Given the description of an element on the screen output the (x, y) to click on. 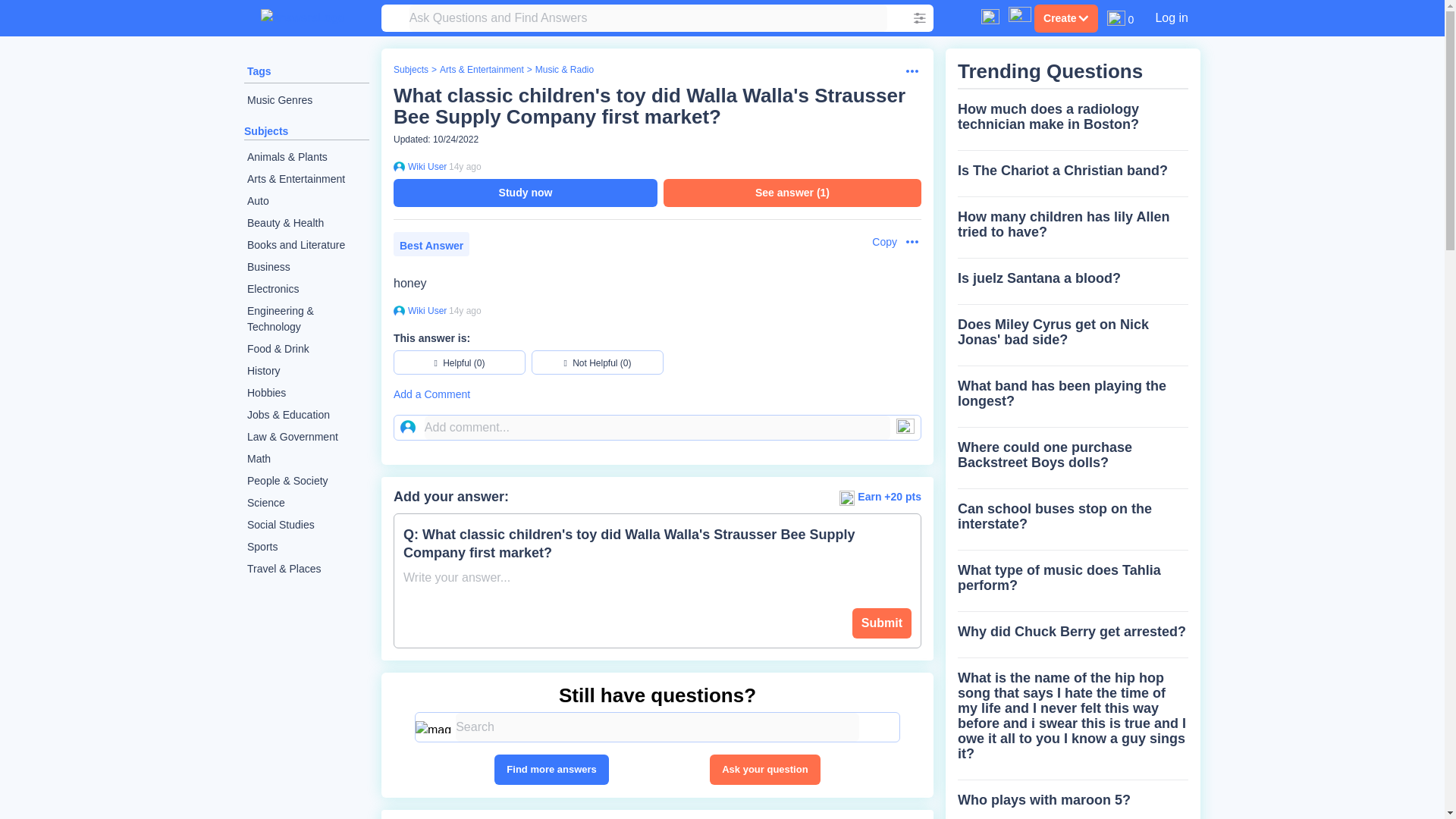
Math (306, 458)
History (306, 371)
Find more answers (551, 769)
Music Genres (306, 100)
Study now (525, 193)
Add a Comment (657, 394)
Sports (306, 546)
2010-01-21 03:56:04 (464, 166)
Log in (1170, 17)
Hobbies (306, 393)
Books and Literature (306, 245)
Subjects (266, 131)
Subjects (410, 69)
Copy (876, 242)
2010-01-21 03:56:04 (464, 310)
